Given the description of an element on the screen output the (x, y) to click on. 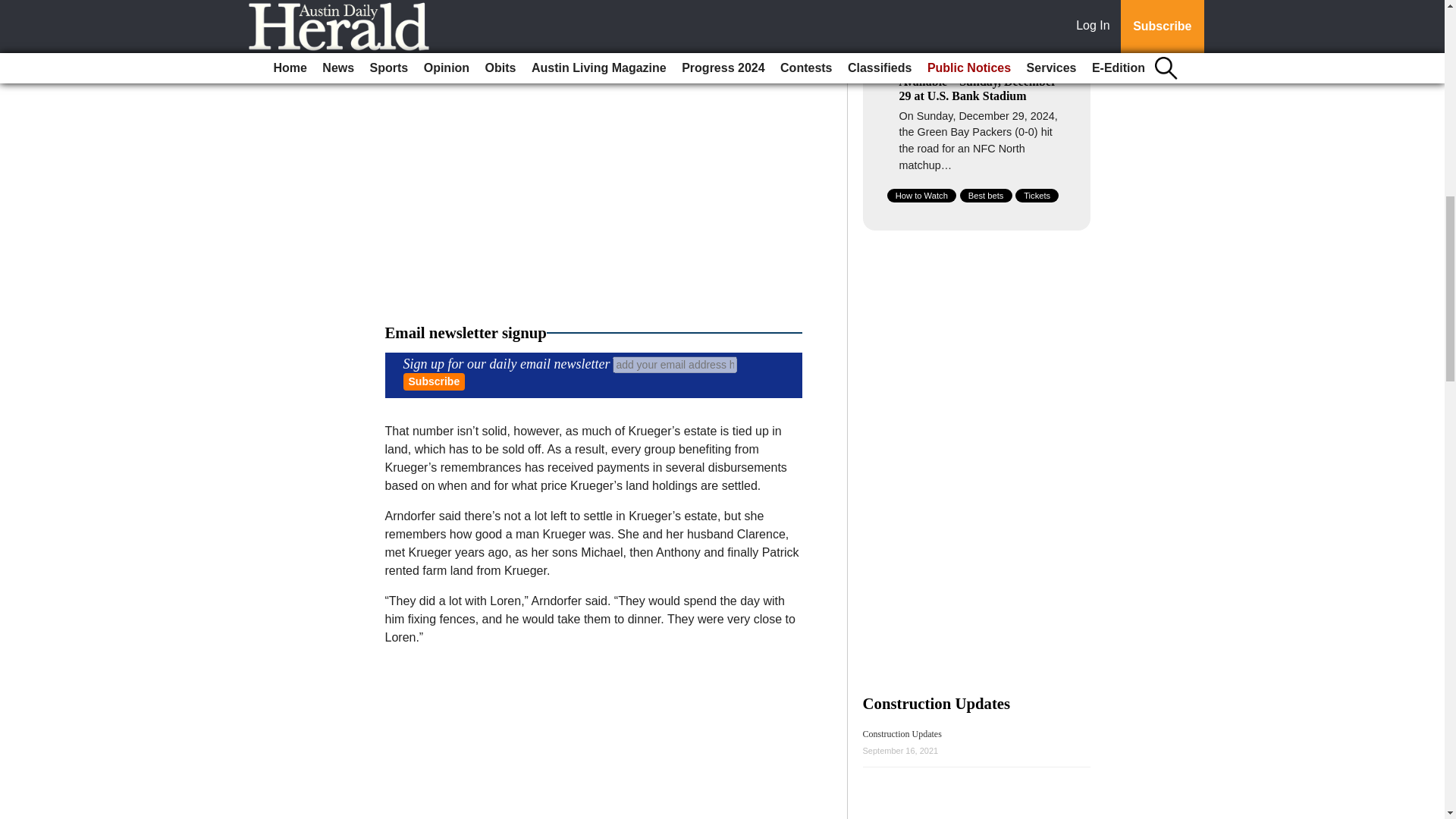
Subscribe (434, 381)
